Given the description of an element on the screen output the (x, y) to click on. 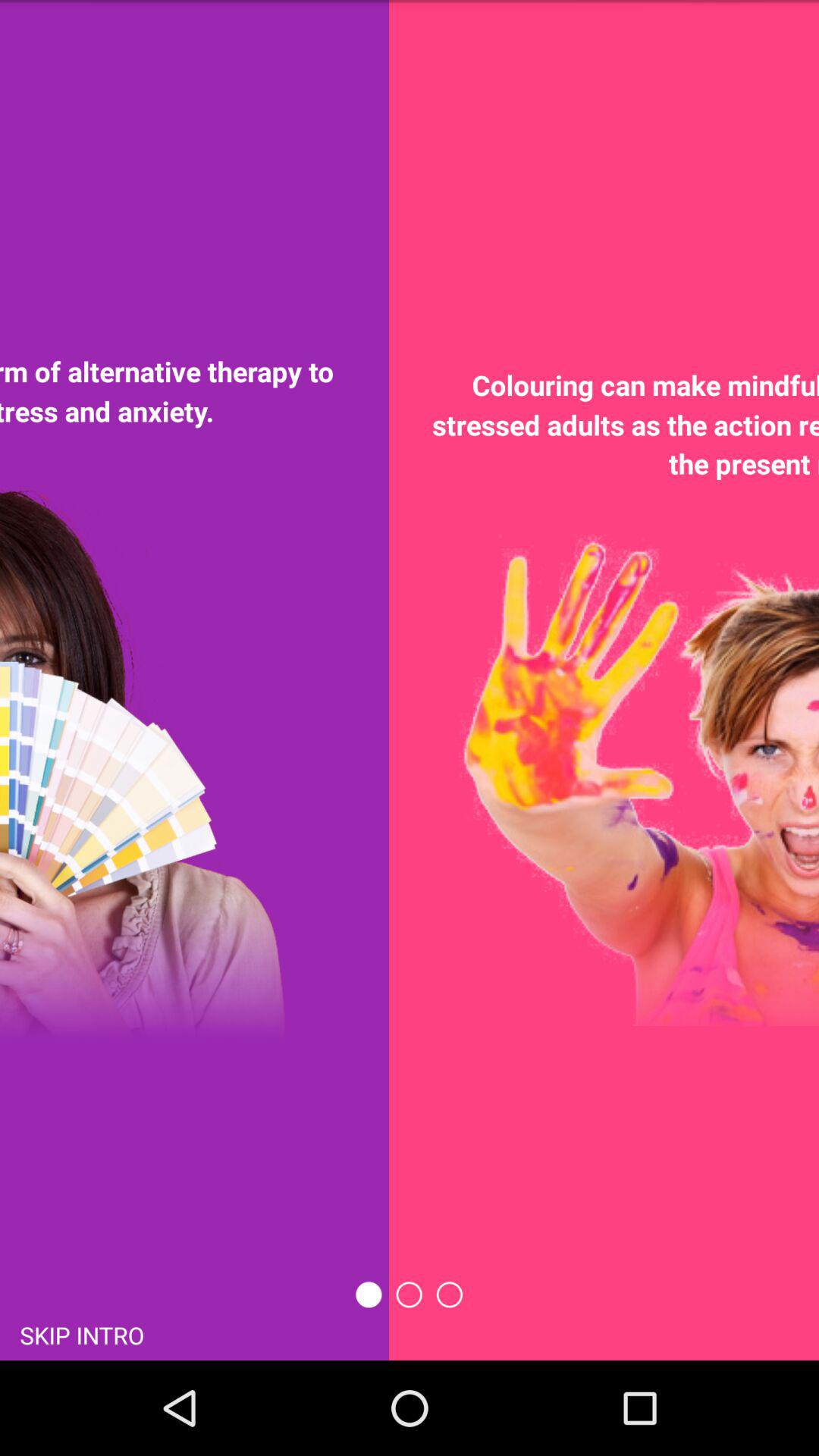
flip to the skip intro item (81, 1334)
